Given the description of an element on the screen output the (x, y) to click on. 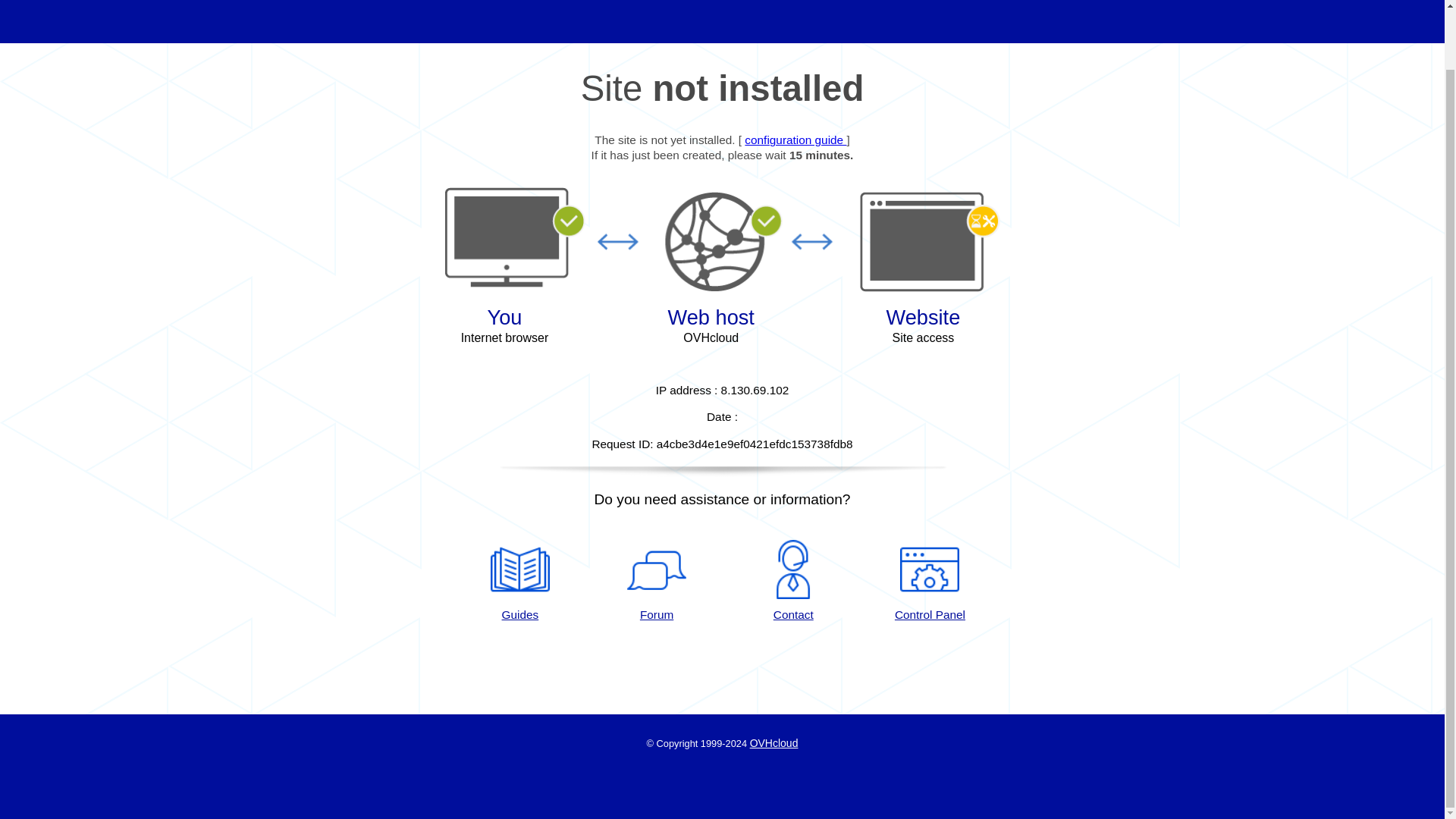
Forum (656, 581)
OVHcloud (773, 743)
Contact (793, 581)
Forum (656, 581)
Guides (519, 581)
Contact (793, 581)
Guides (794, 139)
Control Panel (930, 581)
configuration guide (794, 139)
Guides (519, 581)
Control Panel (930, 581)
